Given the description of an element on the screen output the (x, y) to click on. 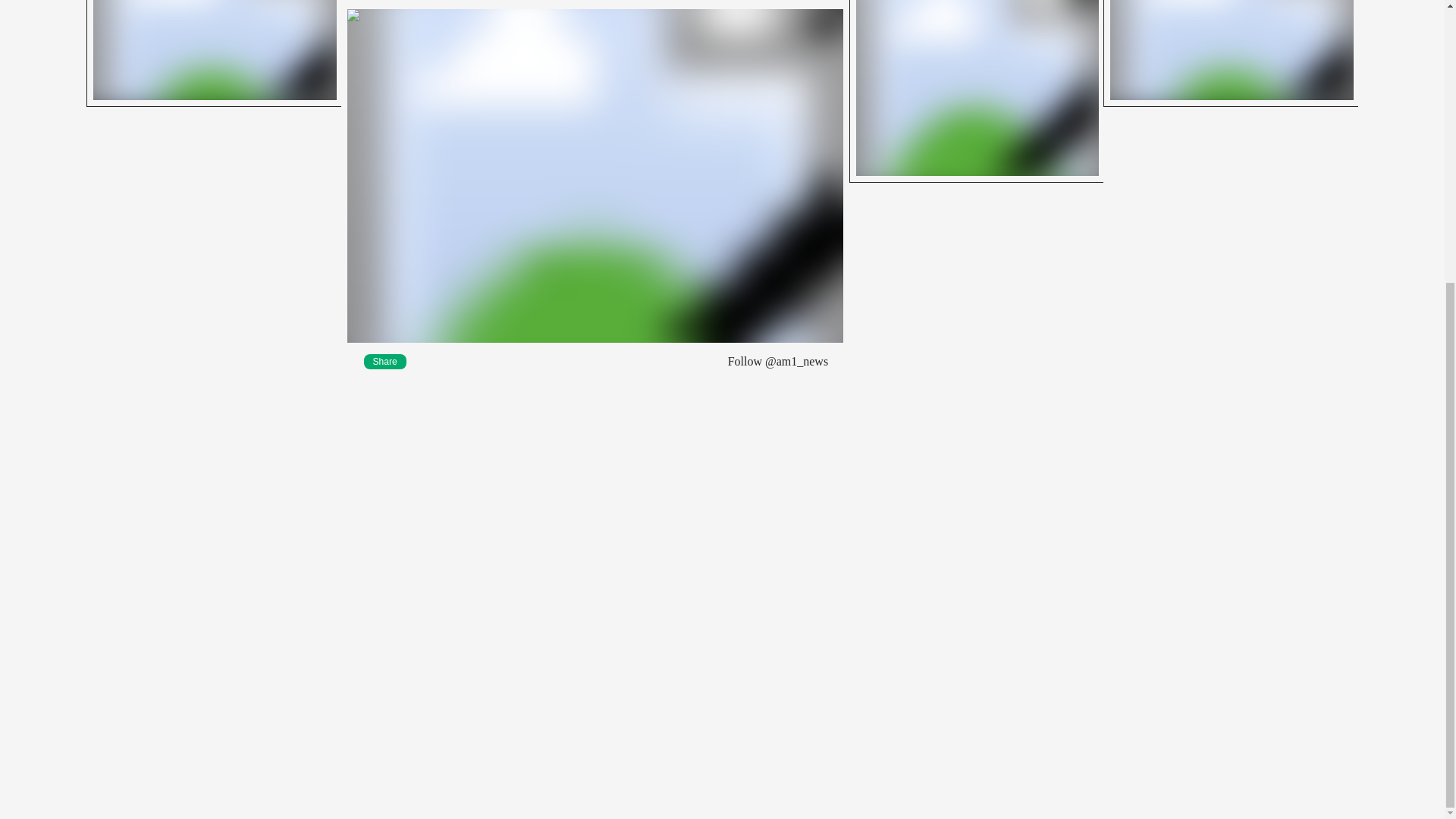
Share (385, 361)
